Given the description of an element on the screen output the (x, y) to click on. 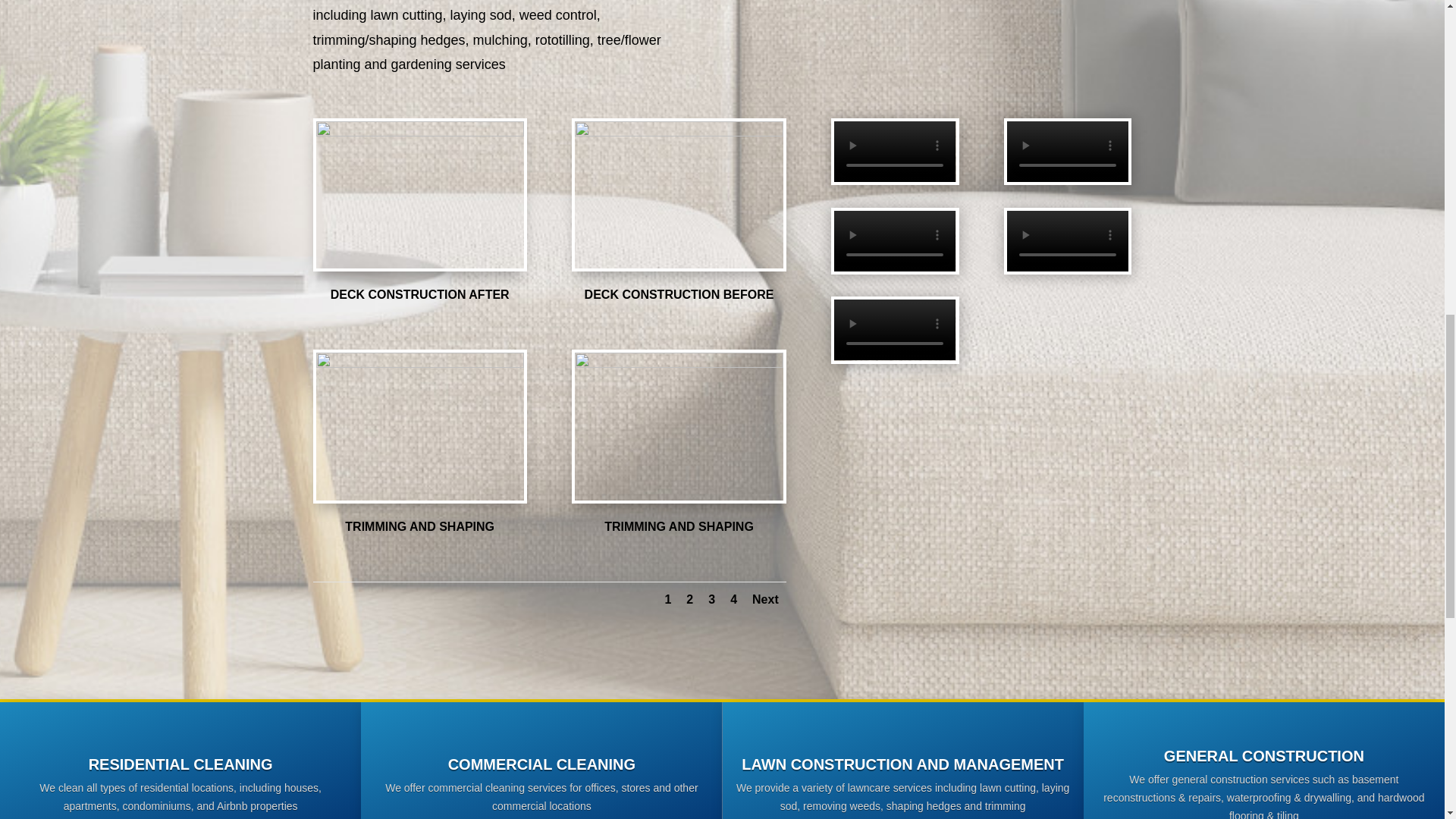
Trimming and Shaping (679, 363)
Deck Construction After (418, 132)
Deck Construction Before (679, 132)
Trimming and Shaping (418, 363)
